Given the description of an element on the screen output the (x, y) to click on. 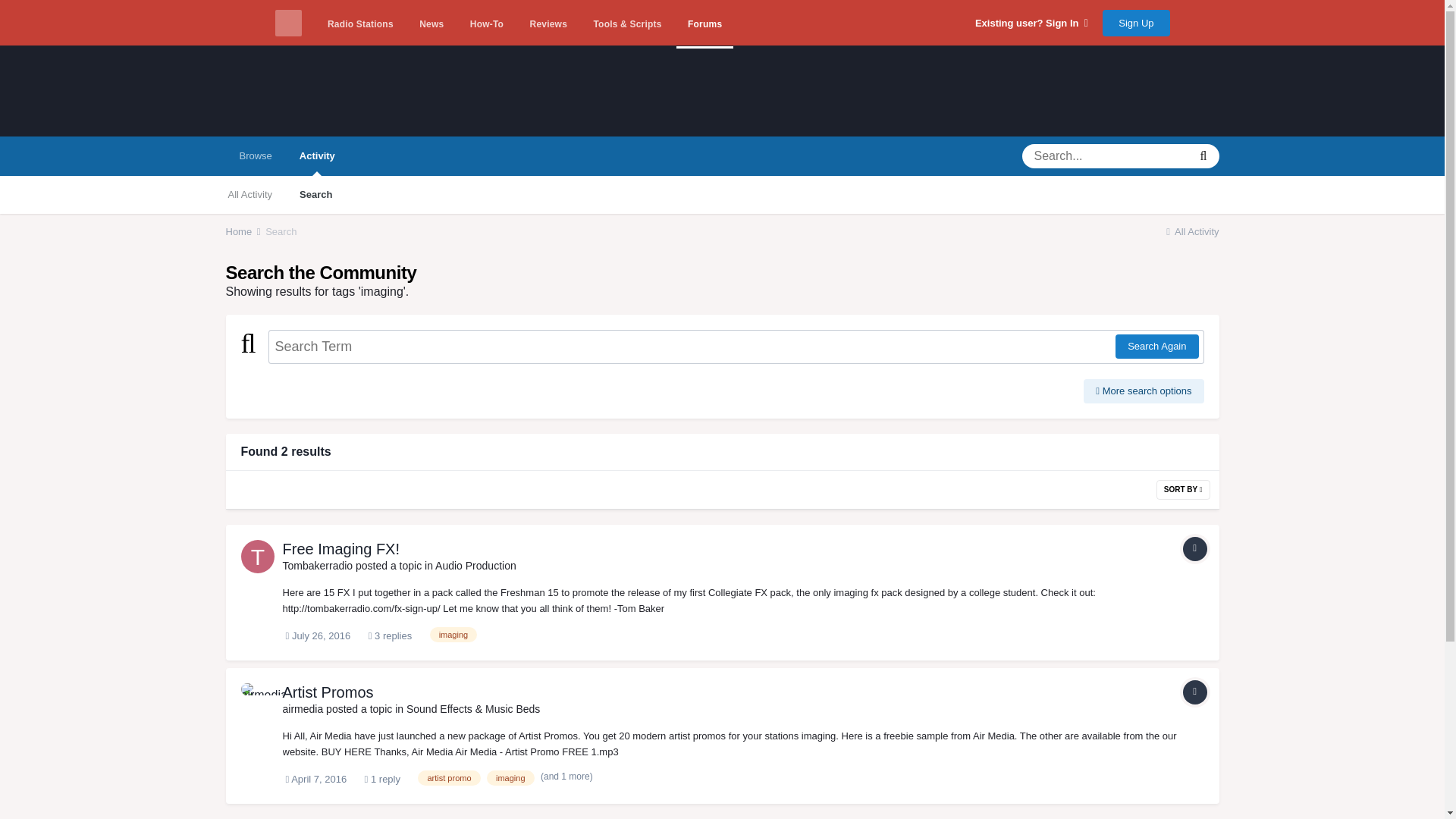
Topic (1194, 692)
Broadcast Radio Gear and Software Reviews (548, 24)
More search options (1143, 391)
Listen To 1000's of Radio Stations (359, 24)
Find other content tagged with 'imaging' (453, 634)
Existing user? Sign In   (1031, 22)
Go to airmedia's profile (302, 708)
Sign Up (1135, 22)
Topic (1194, 549)
How-To Radio Guides (486, 24)
Home (244, 231)
Forums (705, 24)
Station Tools and Scripts (626, 24)
Search (315, 194)
Radio Stations (359, 24)
